Given the description of an element on the screen output the (x, y) to click on. 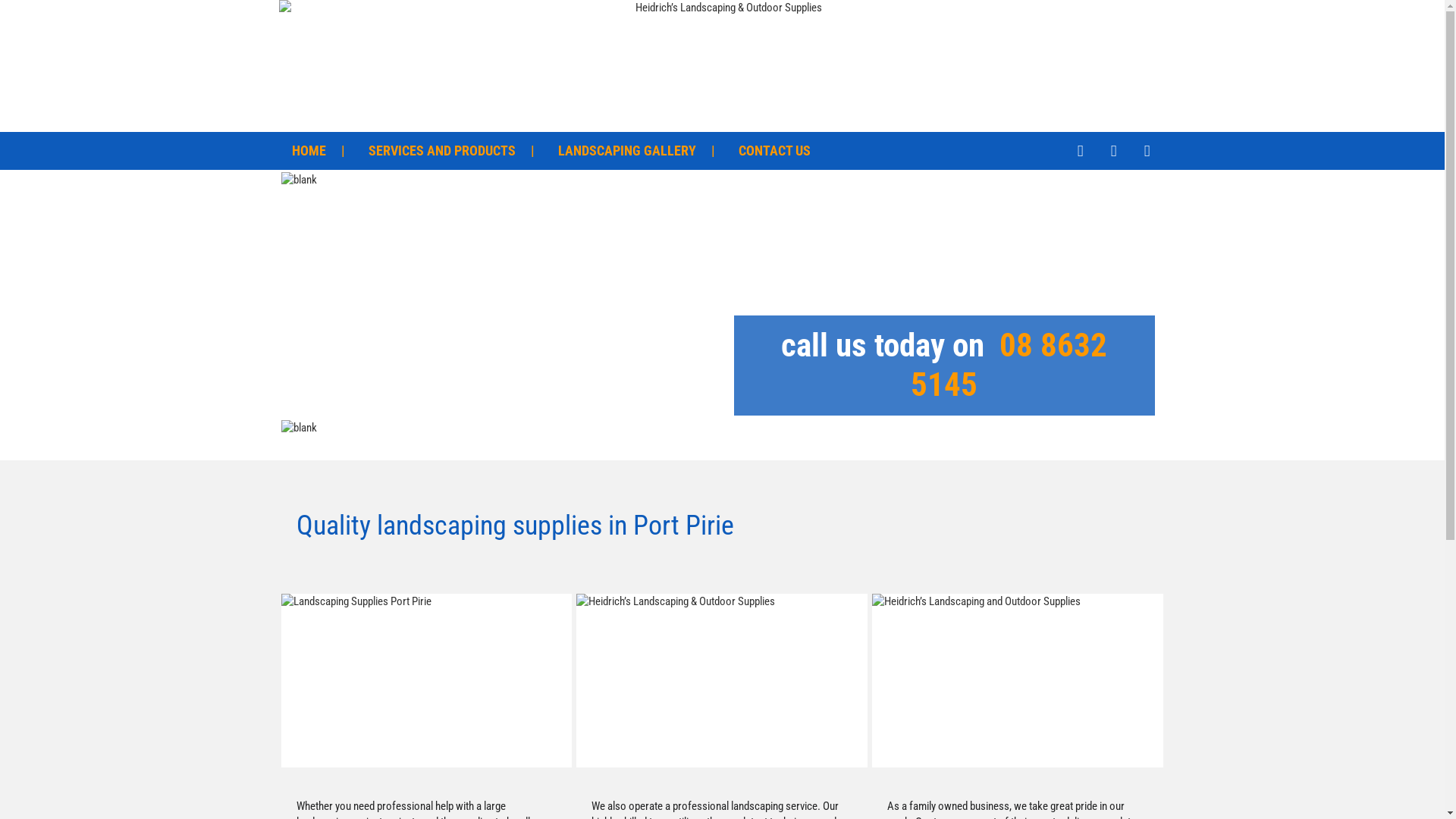
Landscaping Supplies Port Pirie Element type: hover (425, 680)
LANDSCAPING GALLERY     | Element type: text (636, 150)
blank Element type: hover (721, 241)
HOME     | Element type: text (317, 150)
CONTACT US Element type: text (774, 150)
blank Element type: hover (721, 438)
SERVICES AND PRODUCTS     | Element type: text (451, 150)
08 8632 5145 Element type: text (1008, 365)
